Given the description of an element on the screen output the (x, y) to click on. 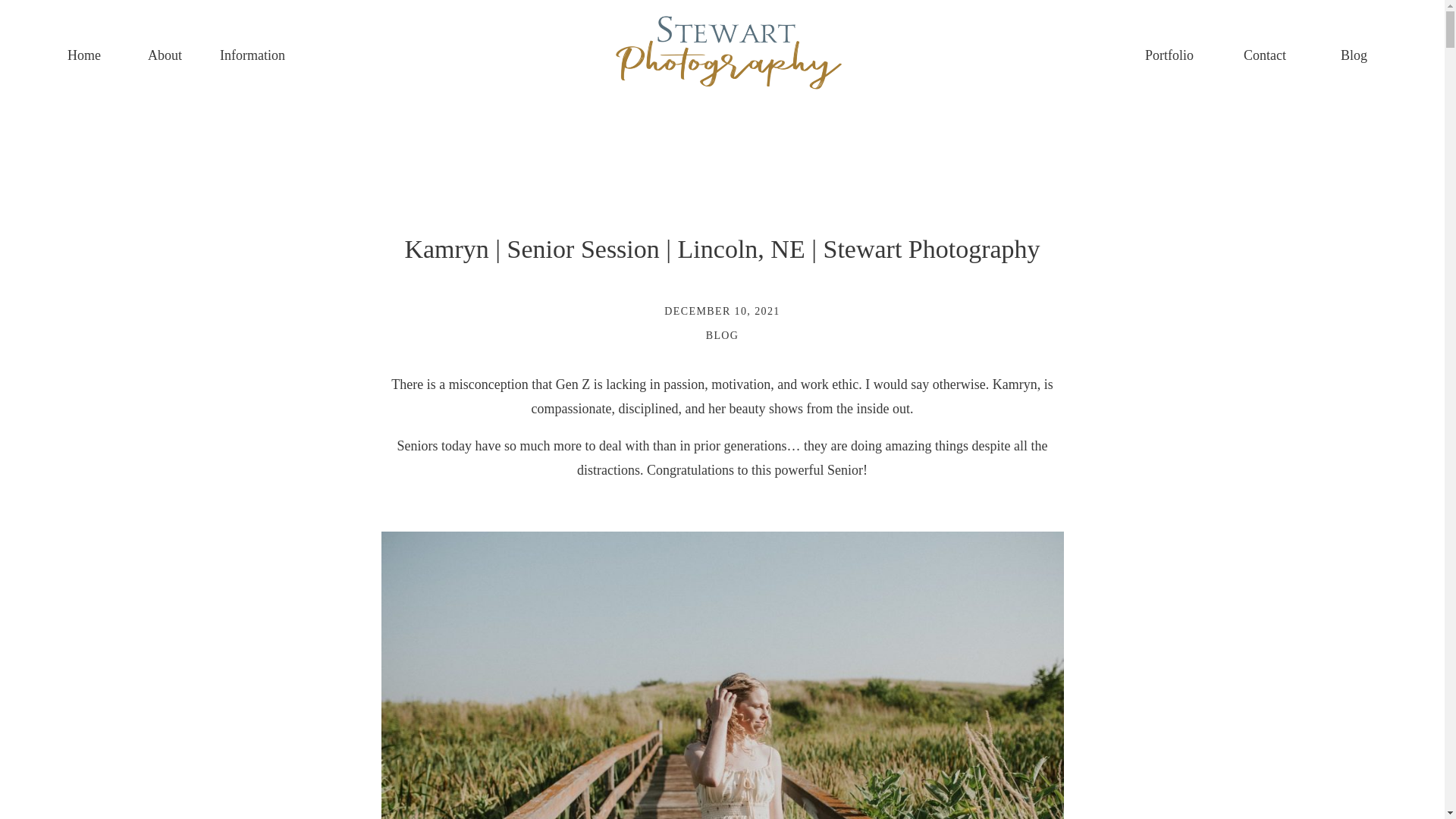
Portfolio (1175, 53)
Contact (1271, 53)
Home (94, 53)
Information (277, 53)
BLOG (722, 335)
Blog (1355, 53)
About (170, 53)
